Given the description of an element on the screen output the (x, y) to click on. 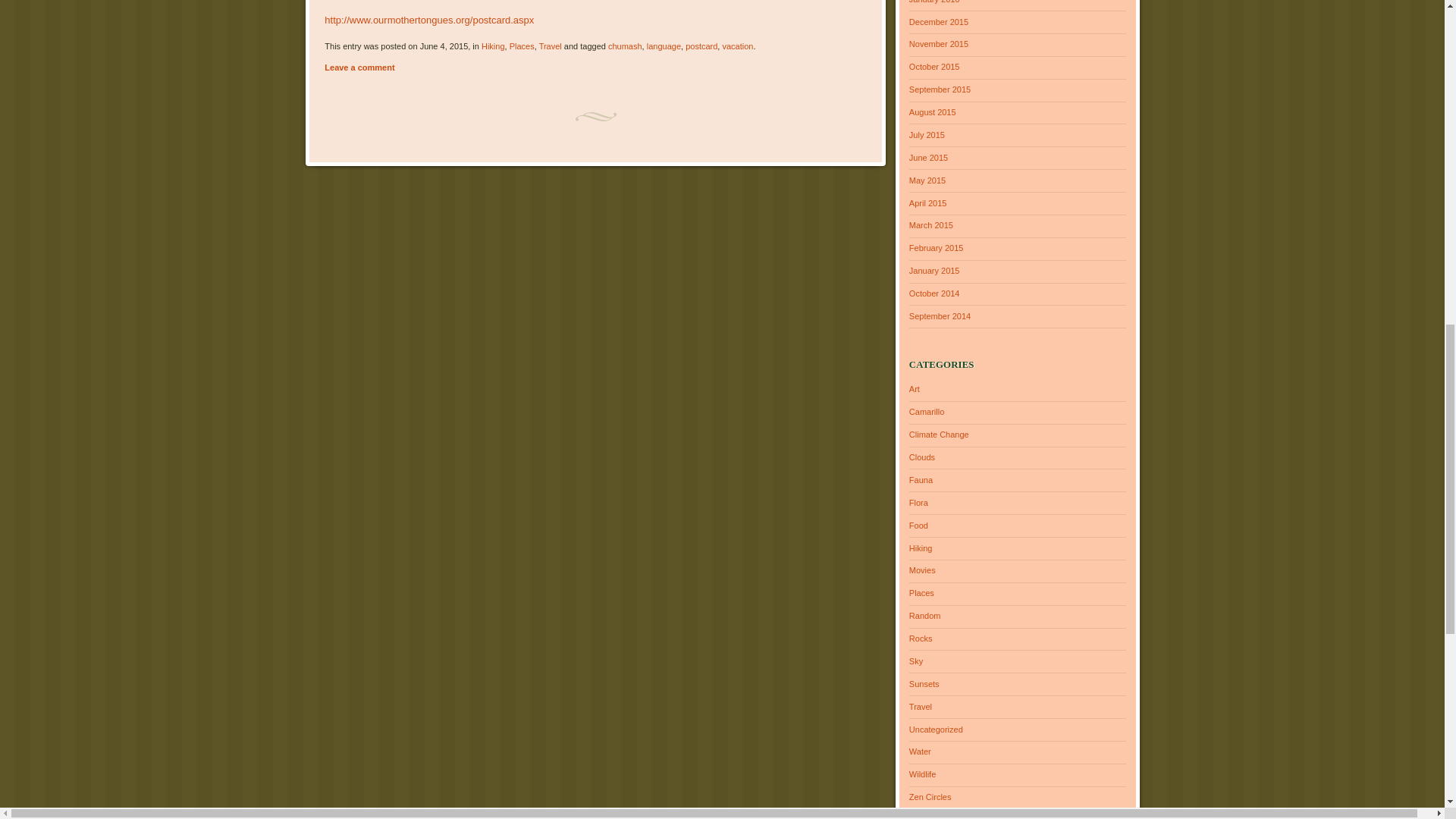
July 2015 (926, 134)
November 2015 (938, 43)
Travel (550, 45)
October 2015 (933, 66)
chumash (625, 45)
September 2015 (939, 89)
May 2015 (926, 180)
language (663, 45)
Leave a comment (359, 67)
January 2016 (933, 2)
